Given the description of an element on the screen output the (x, y) to click on. 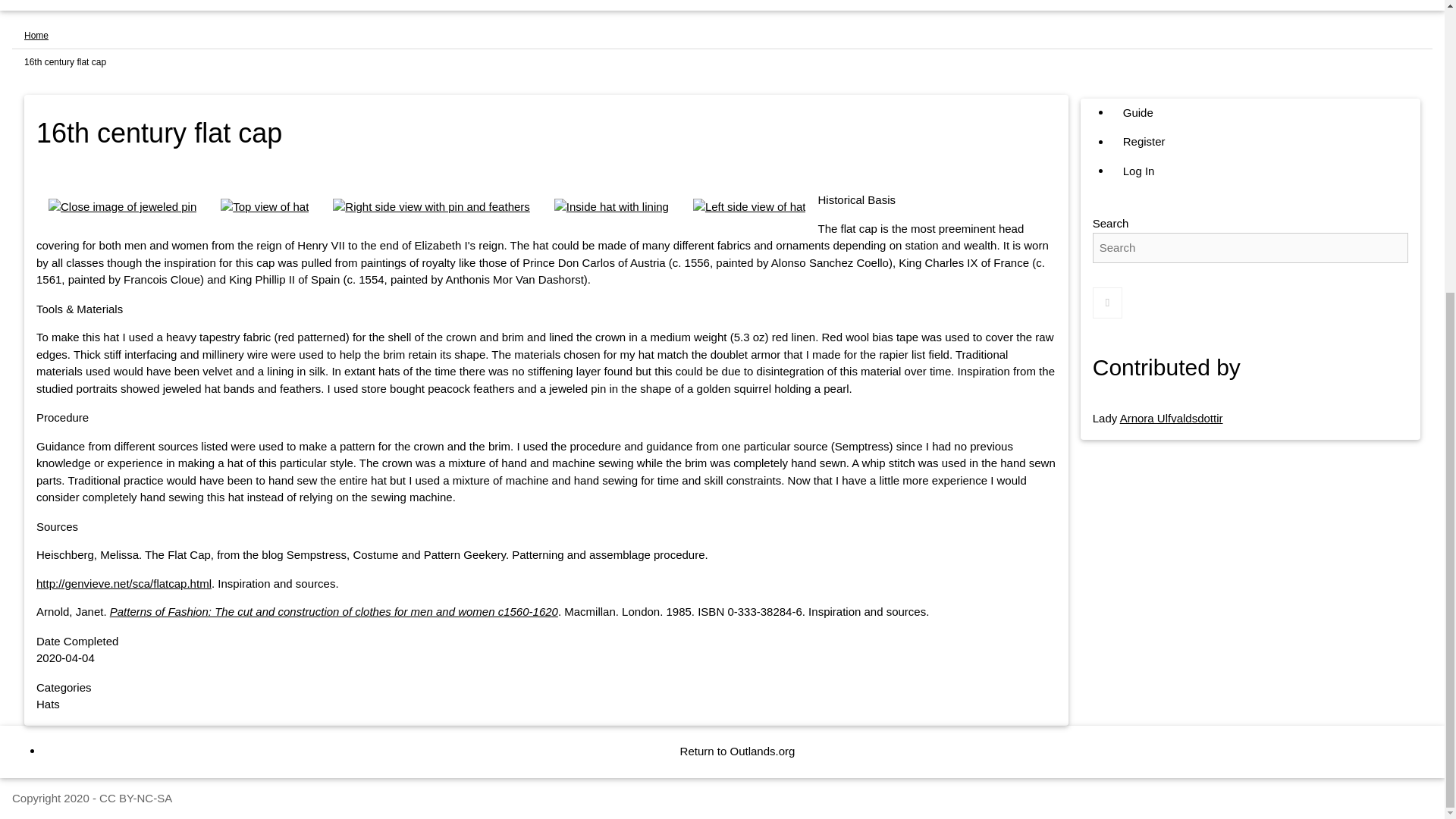
Home (36, 35)
Guide (1138, 112)
Register (1143, 142)
Arnora Ulfvaldsdottir (1171, 418)
Log In (1138, 171)
Return to Outlands.org (738, 751)
